Given the description of an element on the screen output the (x, y) to click on. 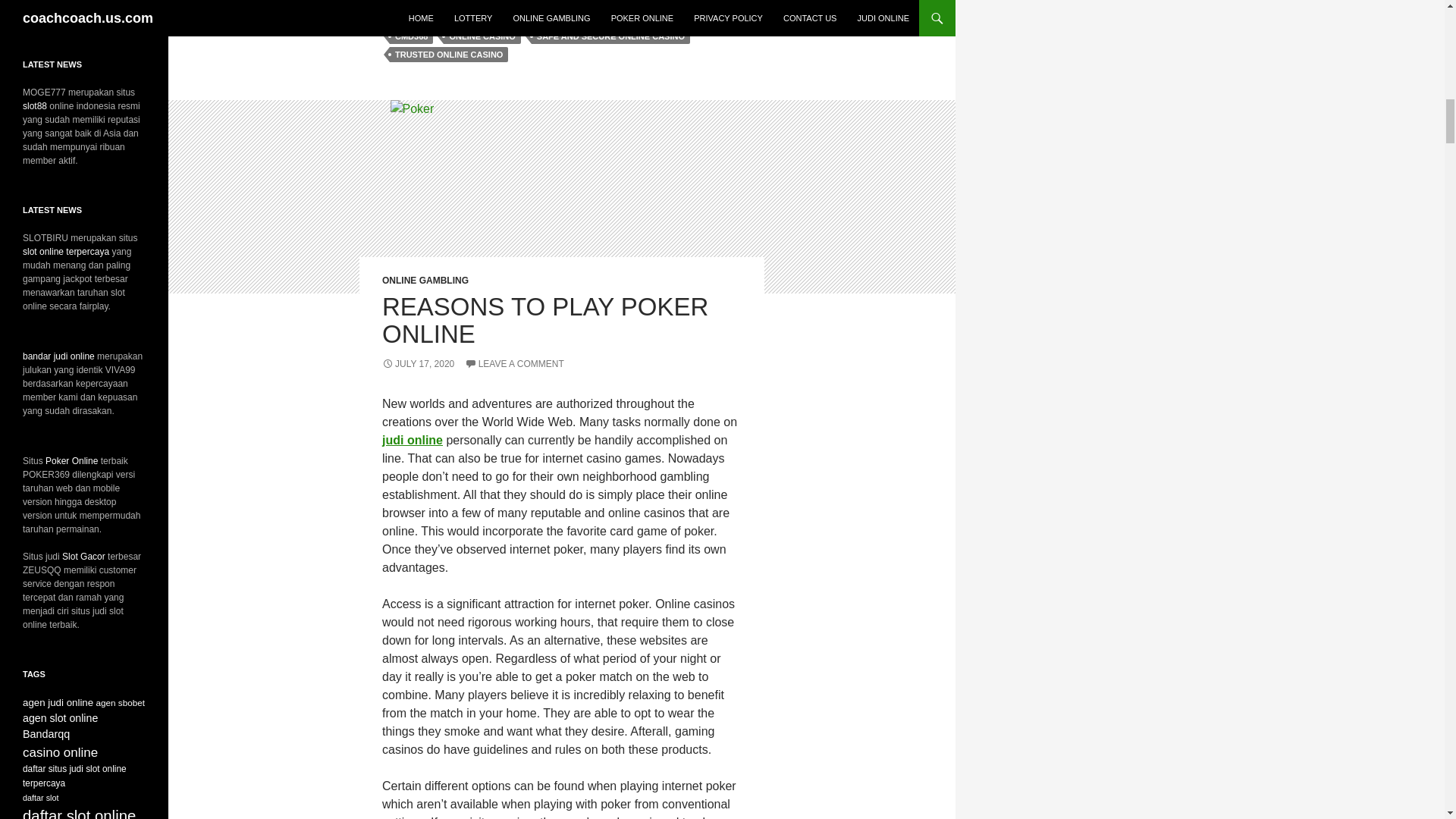
LEAVE A COMMENT (514, 363)
SAFE AND SECURE ONLINE CASINO (610, 36)
REASONS TO PLAY POKER ONLINE (544, 320)
TRUSTED ONLINE CASINO (449, 54)
ONLINE GAMBLING (424, 280)
judi online (411, 440)
CMD368 (411, 36)
JULY 17, 2020 (417, 363)
ONLINE CASINO (481, 36)
